Given the description of an element on the screen output the (x, y) to click on. 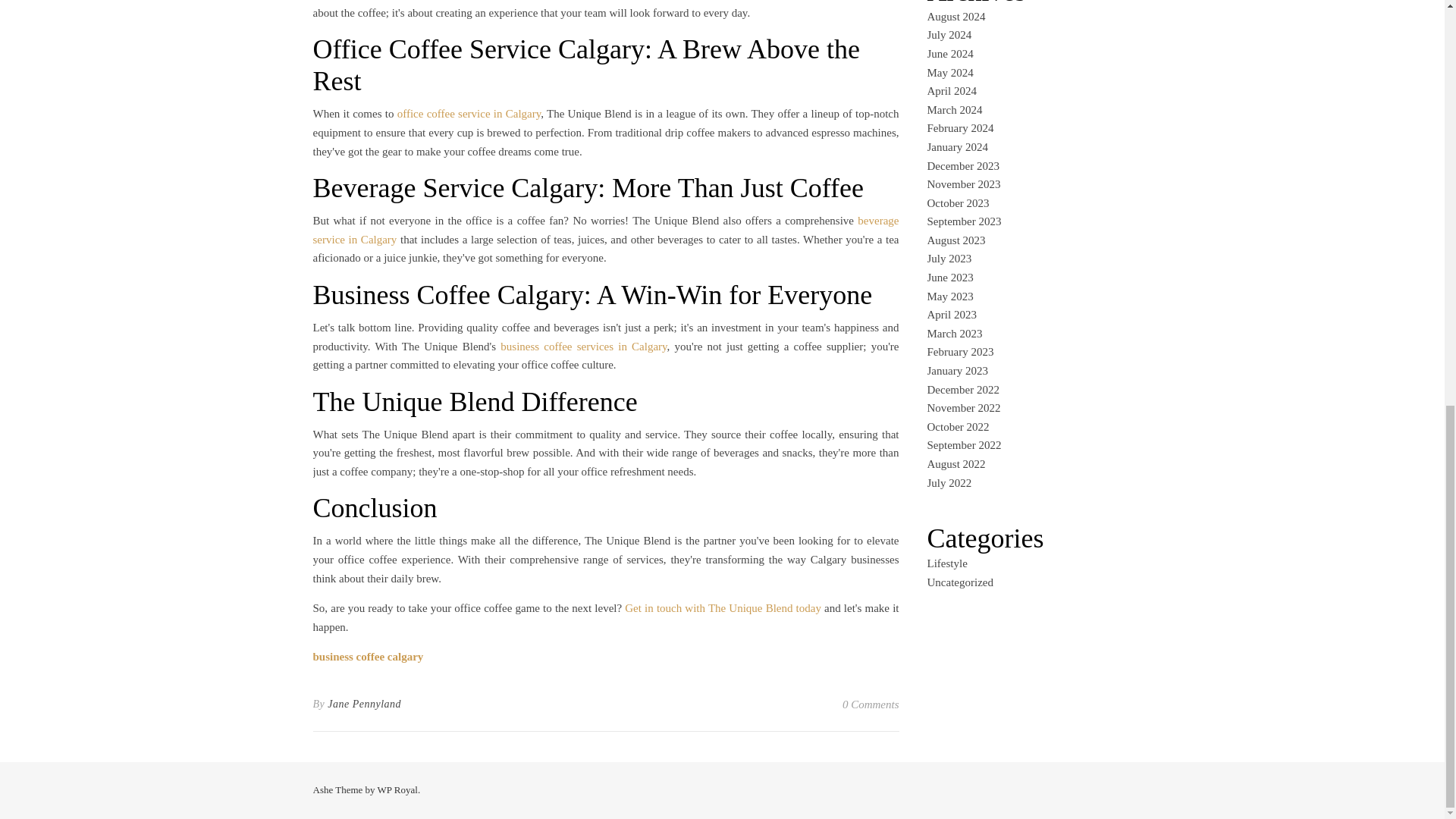
June 2023 (949, 277)
Get in touch with The Unique Blend today (722, 607)
May 2024 (949, 72)
January 2024 (956, 146)
Jane Pennyland (364, 703)
January 2023 (956, 370)
August 2023 (955, 240)
February 2024 (959, 128)
0 Comments (871, 703)
business coffee services in Calgary (583, 346)
